Given the description of an element on the screen output the (x, y) to click on. 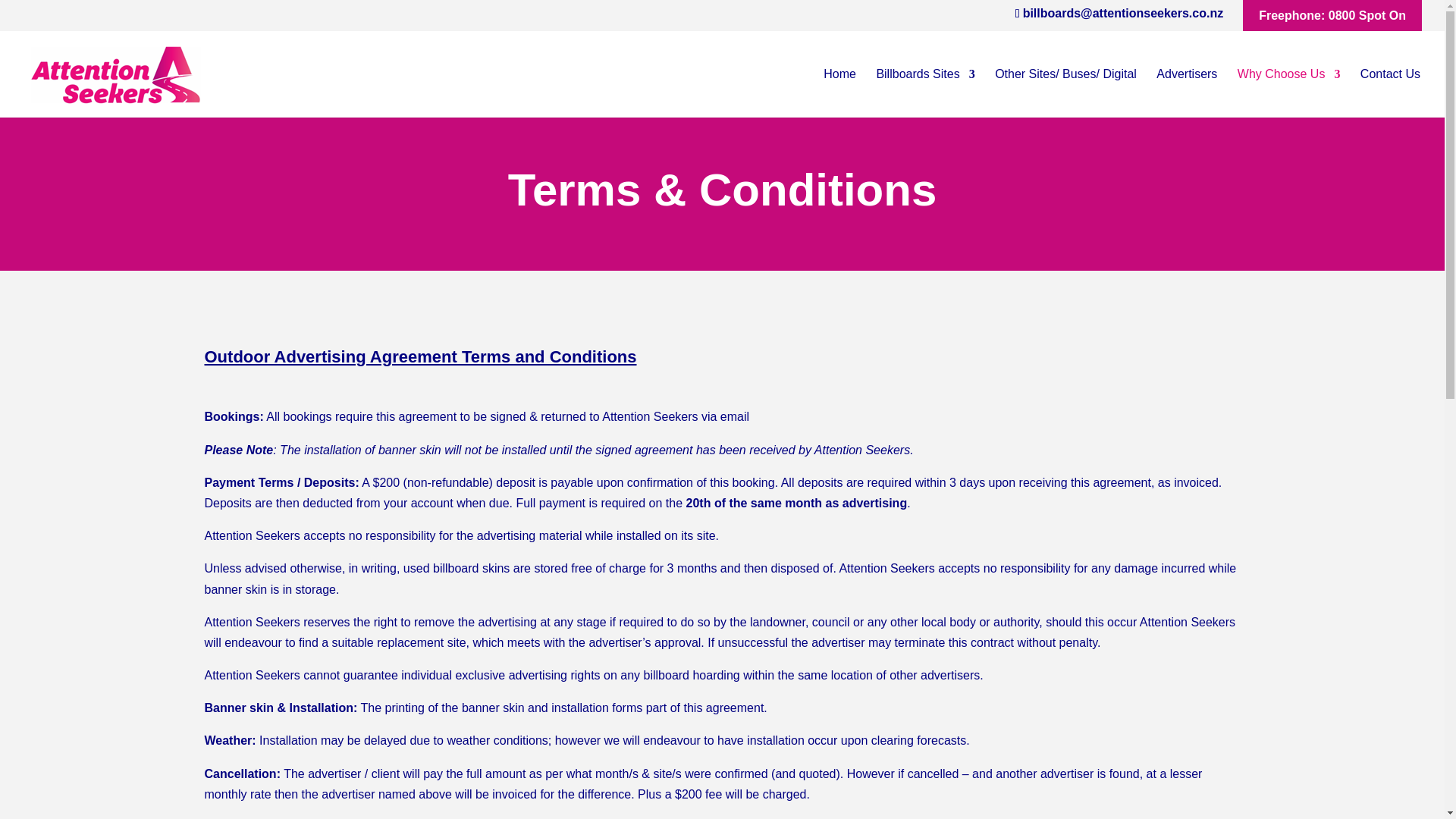
Freephone: 0800 Spot On (1332, 15)
Advertisers (1186, 92)
Billboards Sites (925, 92)
Why Choose Us (1288, 92)
Contact Us (1390, 92)
